Given the description of an element on the screen output the (x, y) to click on. 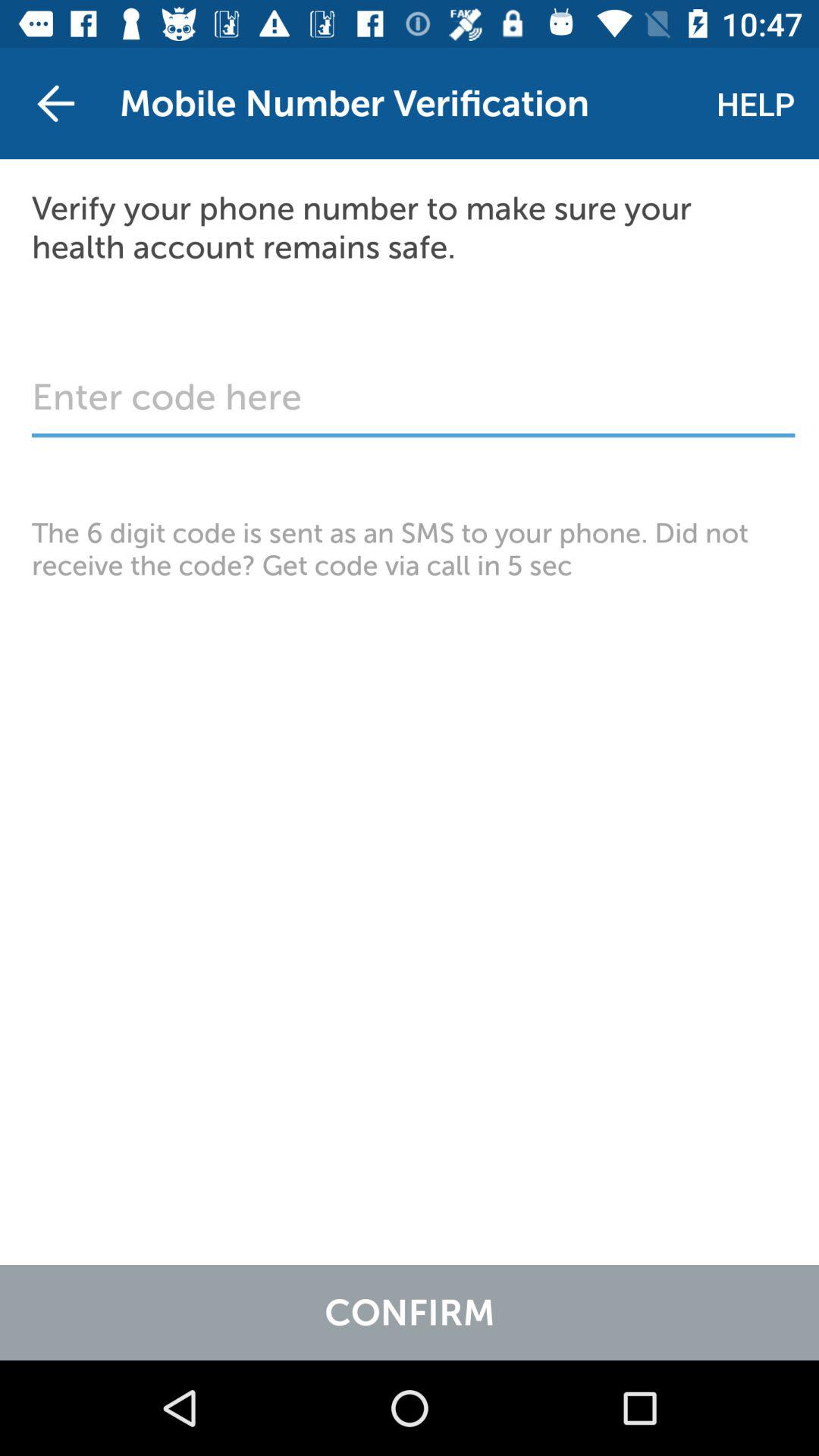
phone verification code box (413, 404)
